Given the description of an element on the screen output the (x, y) to click on. 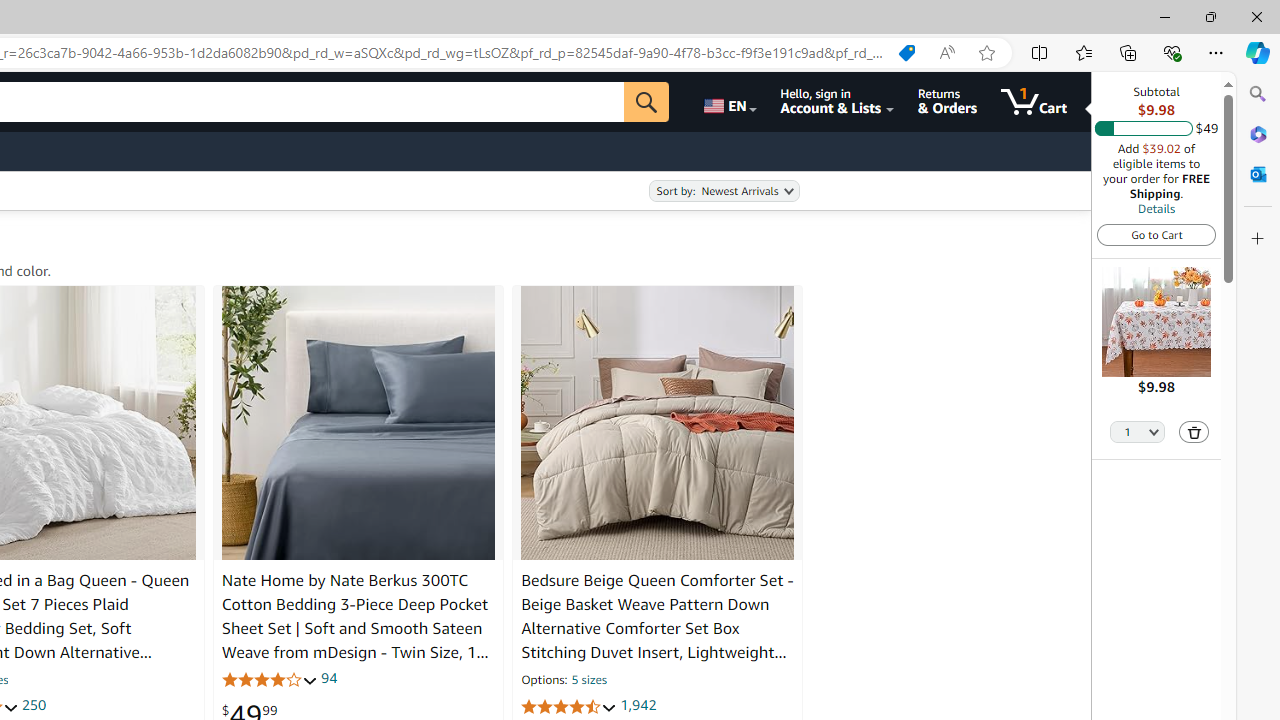
250 (33, 705)
Returns & Orders (946, 101)
4.5 out of 5 stars (569, 706)
Delete (1194, 431)
Outlook (1258, 174)
Hello, sign in Account & Lists (836, 101)
Sort by: (723, 191)
